Given the description of an element on the screen output the (x, y) to click on. 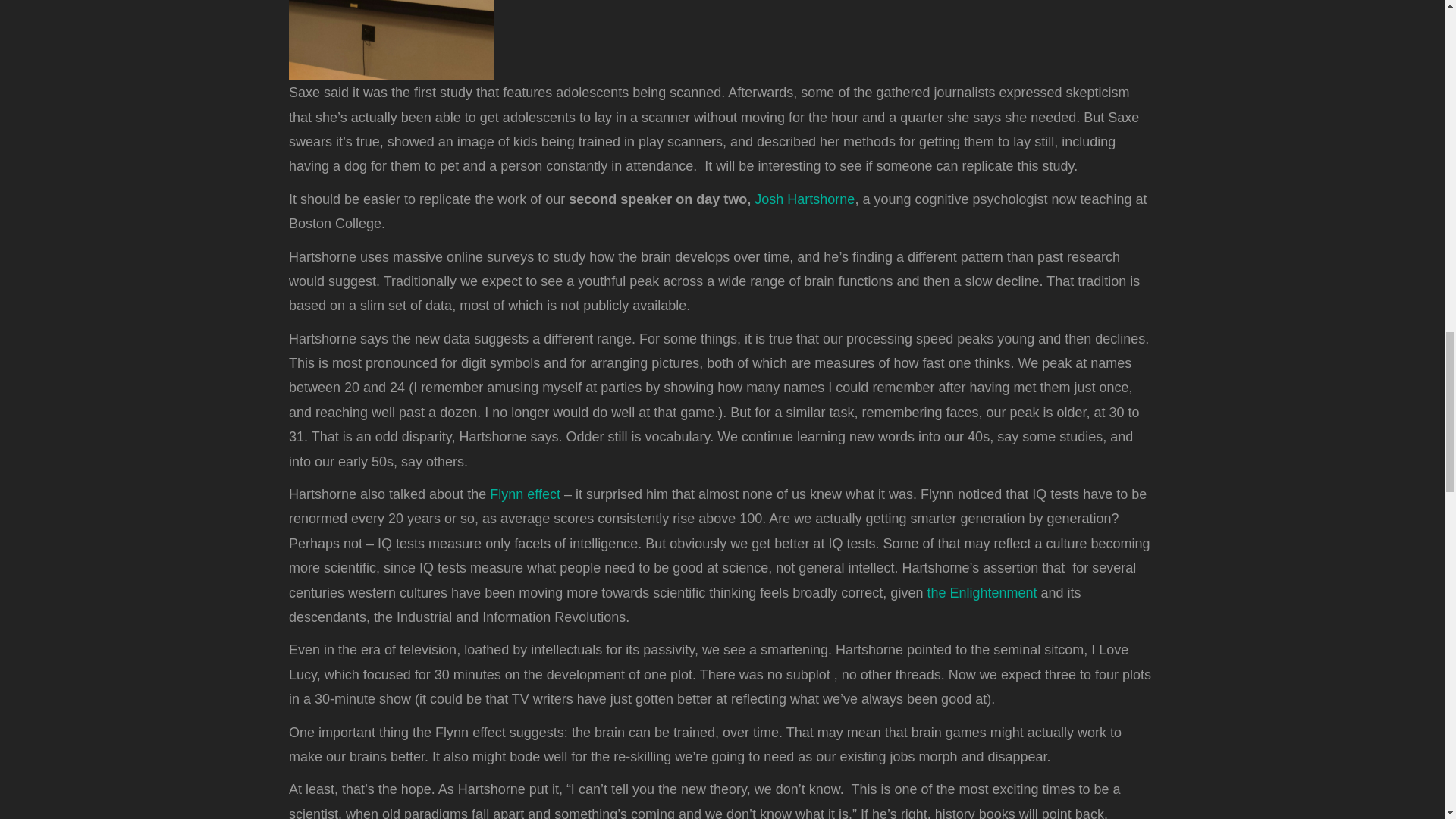
Flynn effect (526, 494)
Josh Hartshorne (804, 199)
the Enlightenment (983, 592)
